Given the description of an element on the screen output the (x, y) to click on. 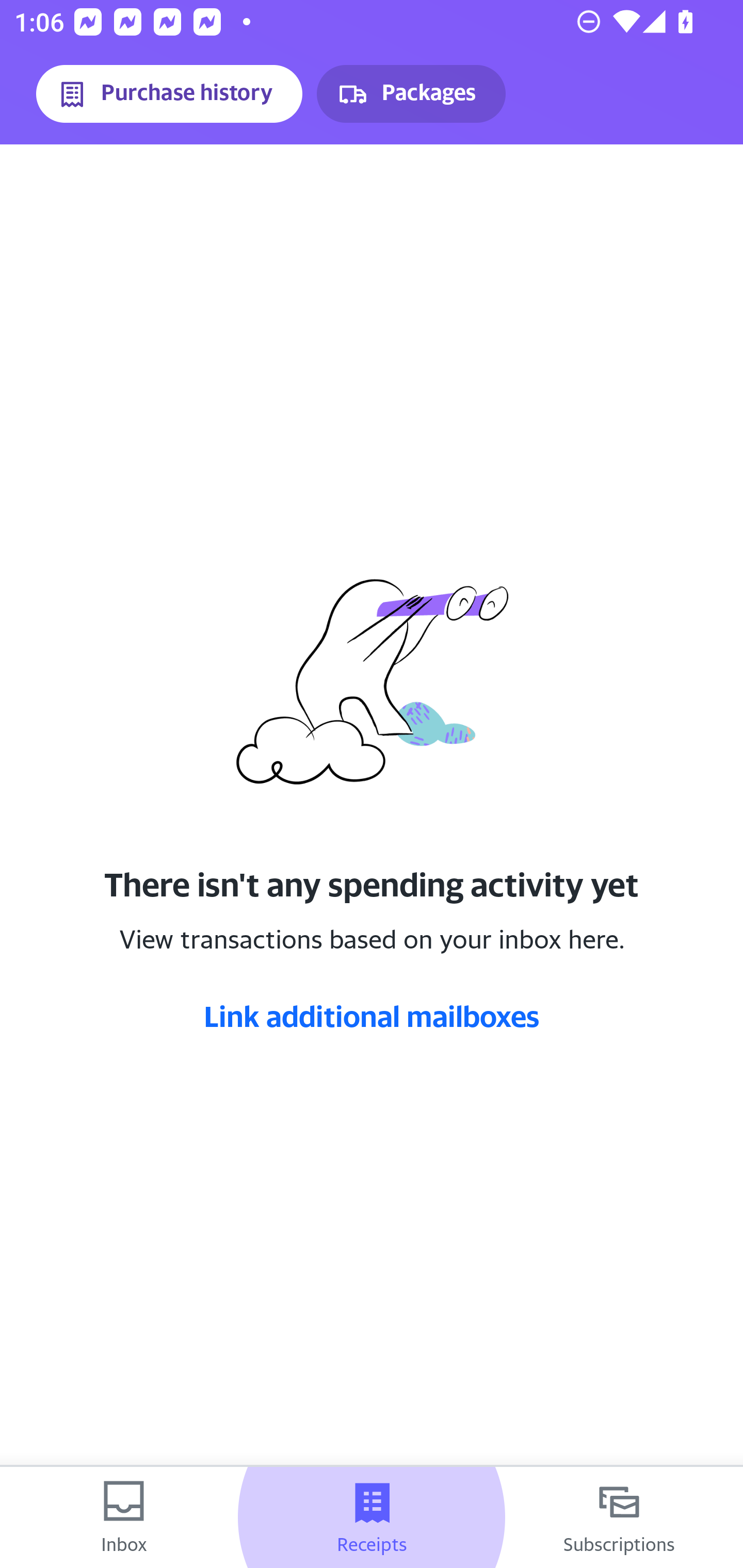
Packages (410, 93)
Link additional mailboxes (371, 1015)
Inbox (123, 1517)
Receipts (371, 1517)
Subscriptions (619, 1517)
